Given the description of an element on the screen output the (x, y) to click on. 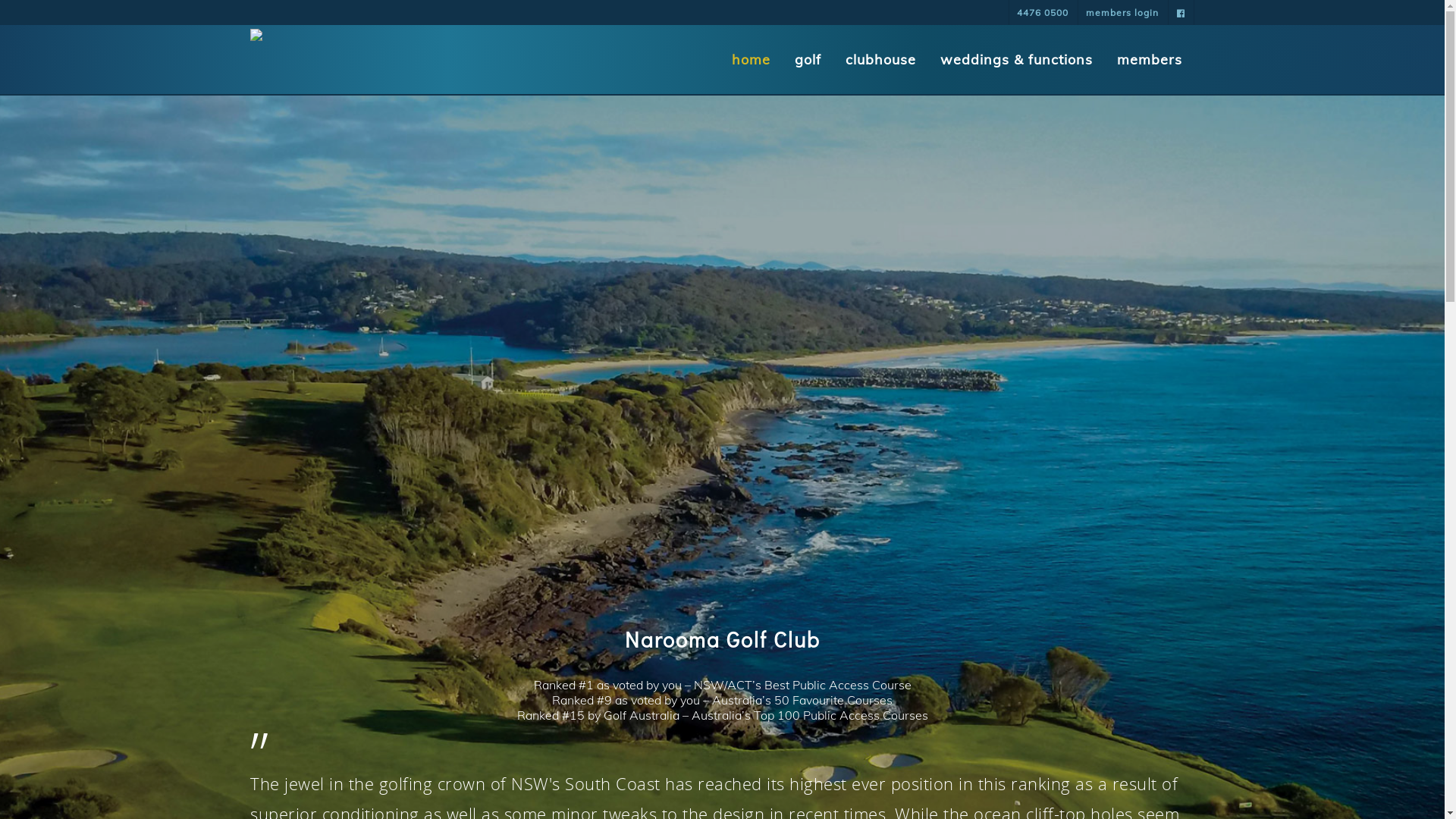
4476 0500 Element type: text (1042, 12)
weddings & functions Element type: text (1016, 61)
members Element type: text (1149, 61)
clubhouse Element type: text (880, 61)
golf Element type: text (807, 61)
home Element type: text (750, 61)
members login Element type: text (1121, 12)
